Given the description of an element on the screen output the (x, y) to click on. 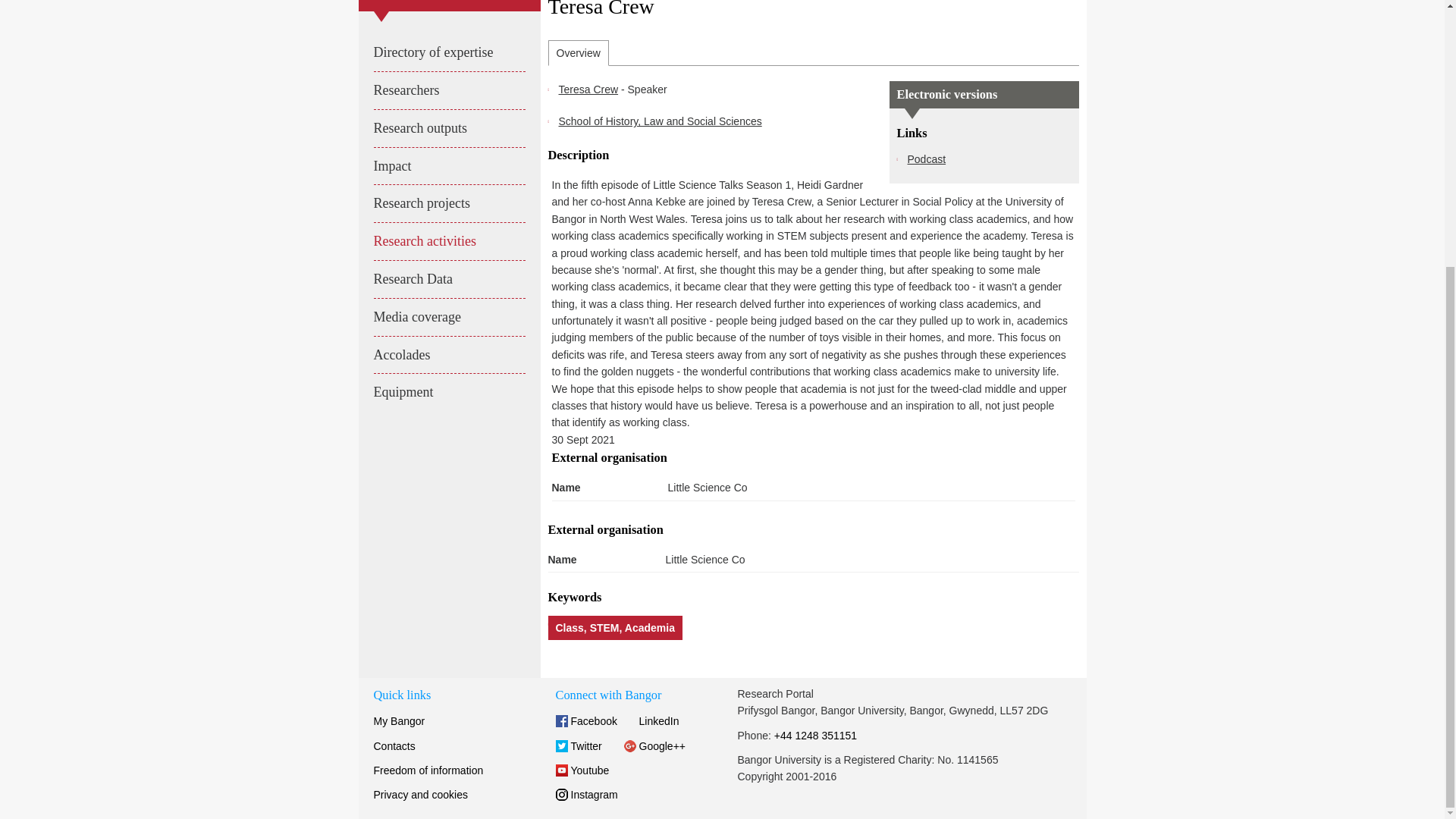
Accolades (448, 354)
Research Data (448, 279)
Research activities (448, 241)
Twitter (577, 745)
Directory of expertise (448, 52)
Podcast (925, 159)
Media coverage (448, 316)
My Bangor (398, 720)
Overview (578, 52)
Research projects (448, 203)
Research outputs (448, 128)
Instagram (585, 794)
Freedom of information (427, 770)
Impact (448, 166)
Researchers (448, 90)
